Given the description of an element on the screen output the (x, y) to click on. 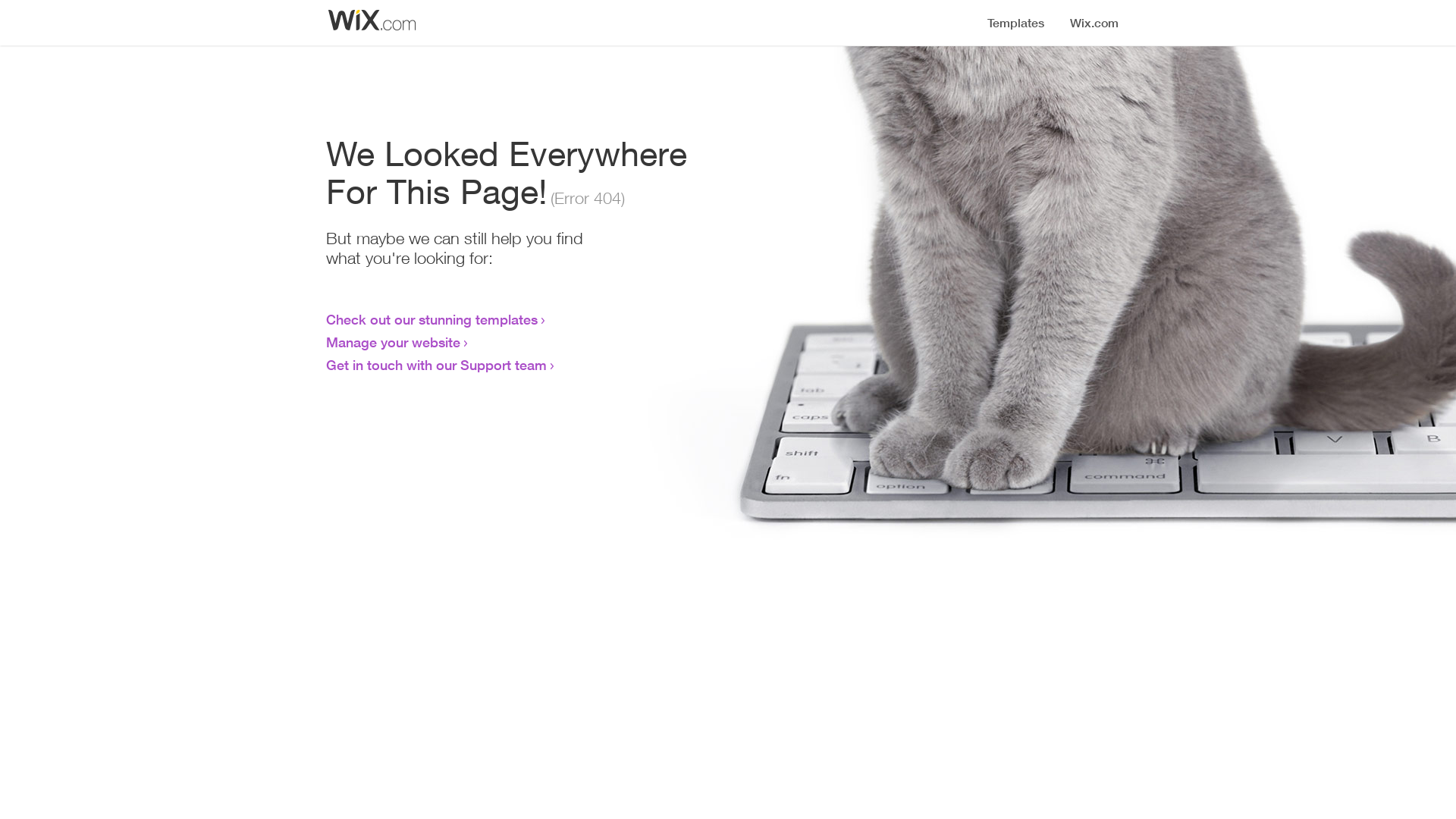
Manage your website Element type: text (393, 341)
Check out our stunning templates Element type: text (431, 318)
Get in touch with our Support team Element type: text (436, 364)
